Given the description of an element on the screen output the (x, y) to click on. 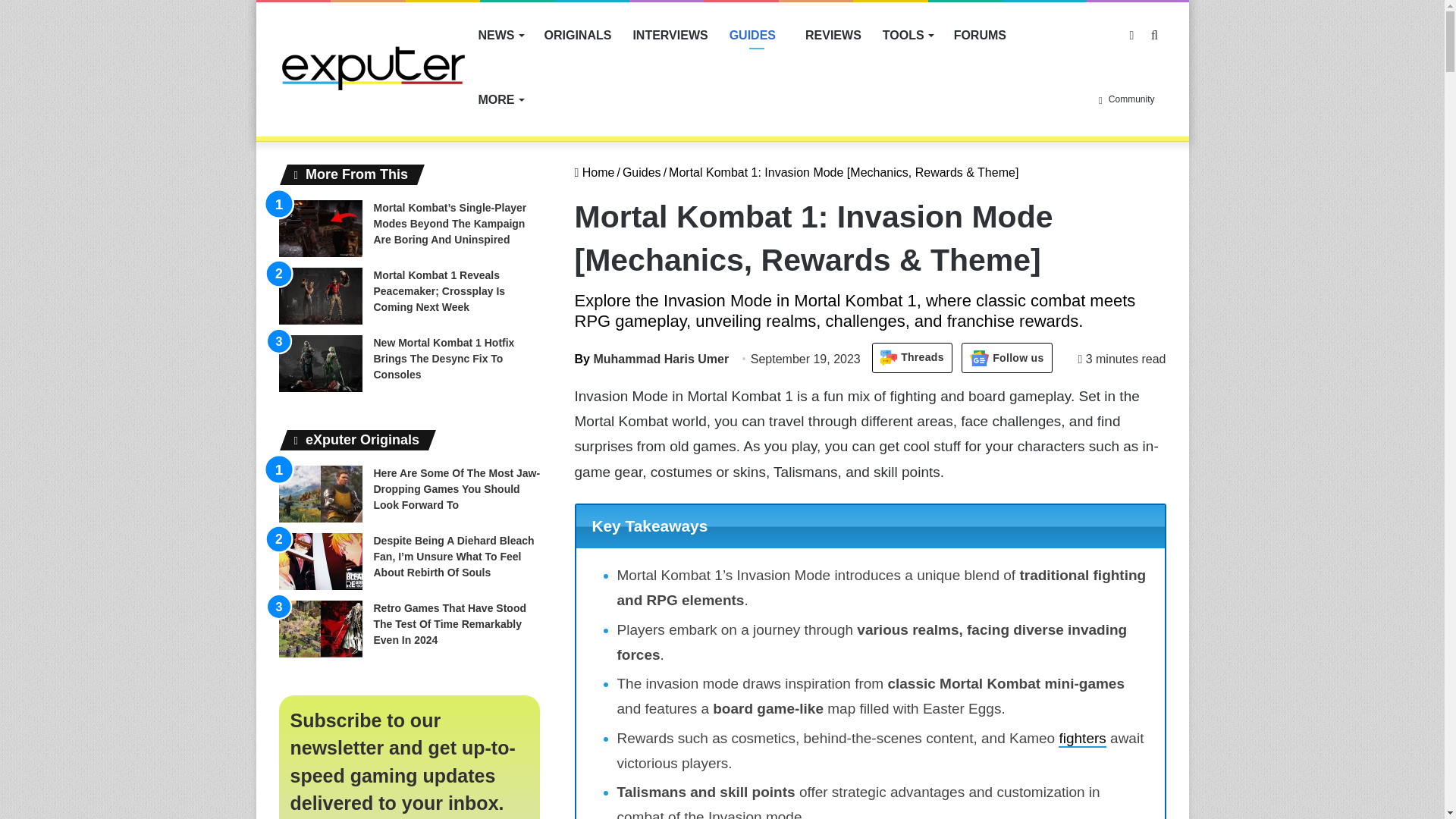
REVIEWS (833, 35)
MORE (499, 99)
GUIDES (756, 35)
ORIGINALS (578, 35)
NEWS (499, 35)
FORUMS (979, 35)
eXputer.com (373, 66)
Muhammad Haris Umer (652, 358)
TOOLS (907, 35)
INTERVIEWS (669, 35)
fighters (1081, 738)
